Given the description of an element on the screen output the (x, y) to click on. 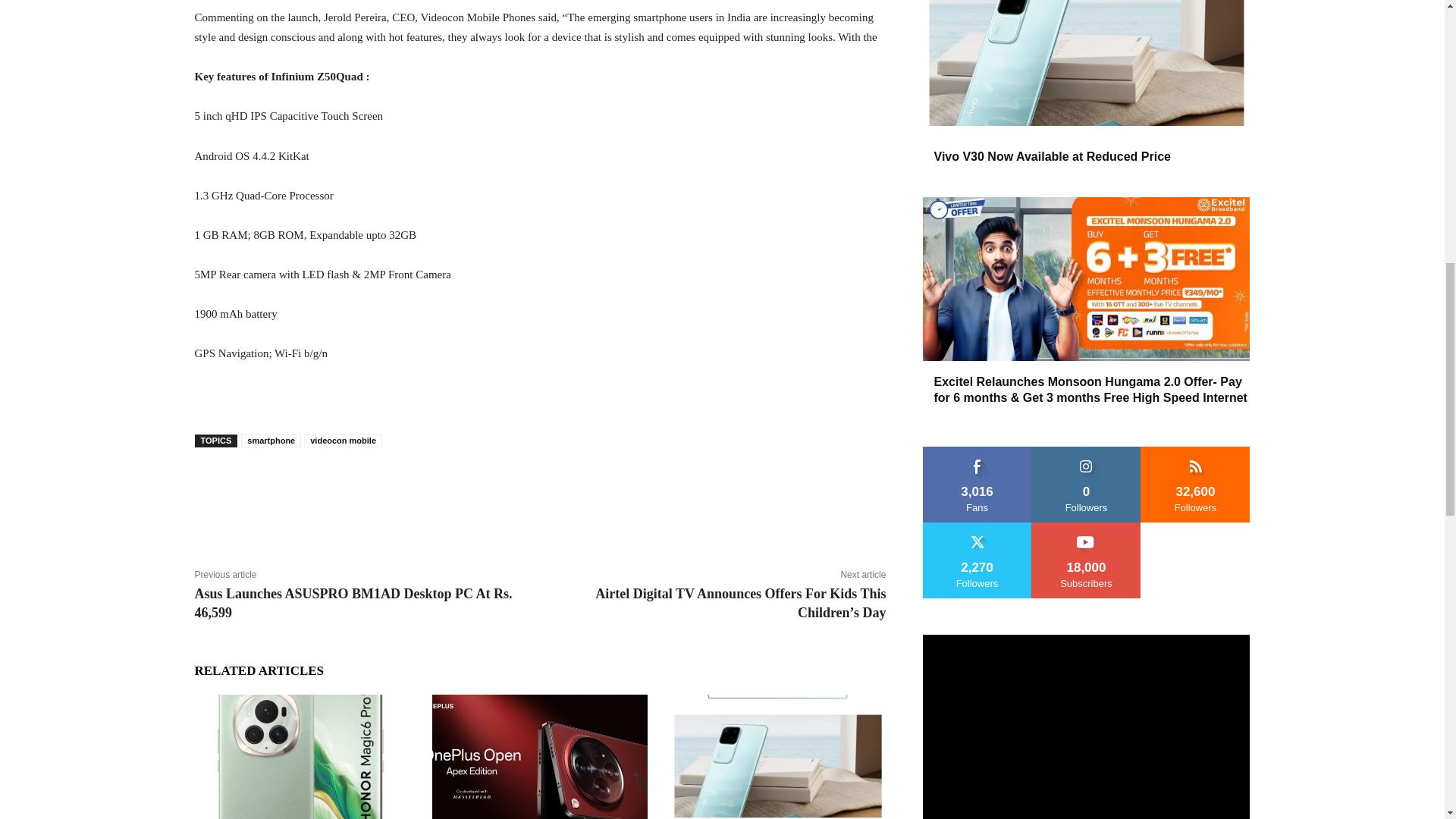
videocon mobile (342, 440)
smartphone (271, 440)
Asus Launches ASUSPRO BM1AD Desktop PC At Rs. 46,599 (352, 602)
